Given the description of an element on the screen output the (x, y) to click on. 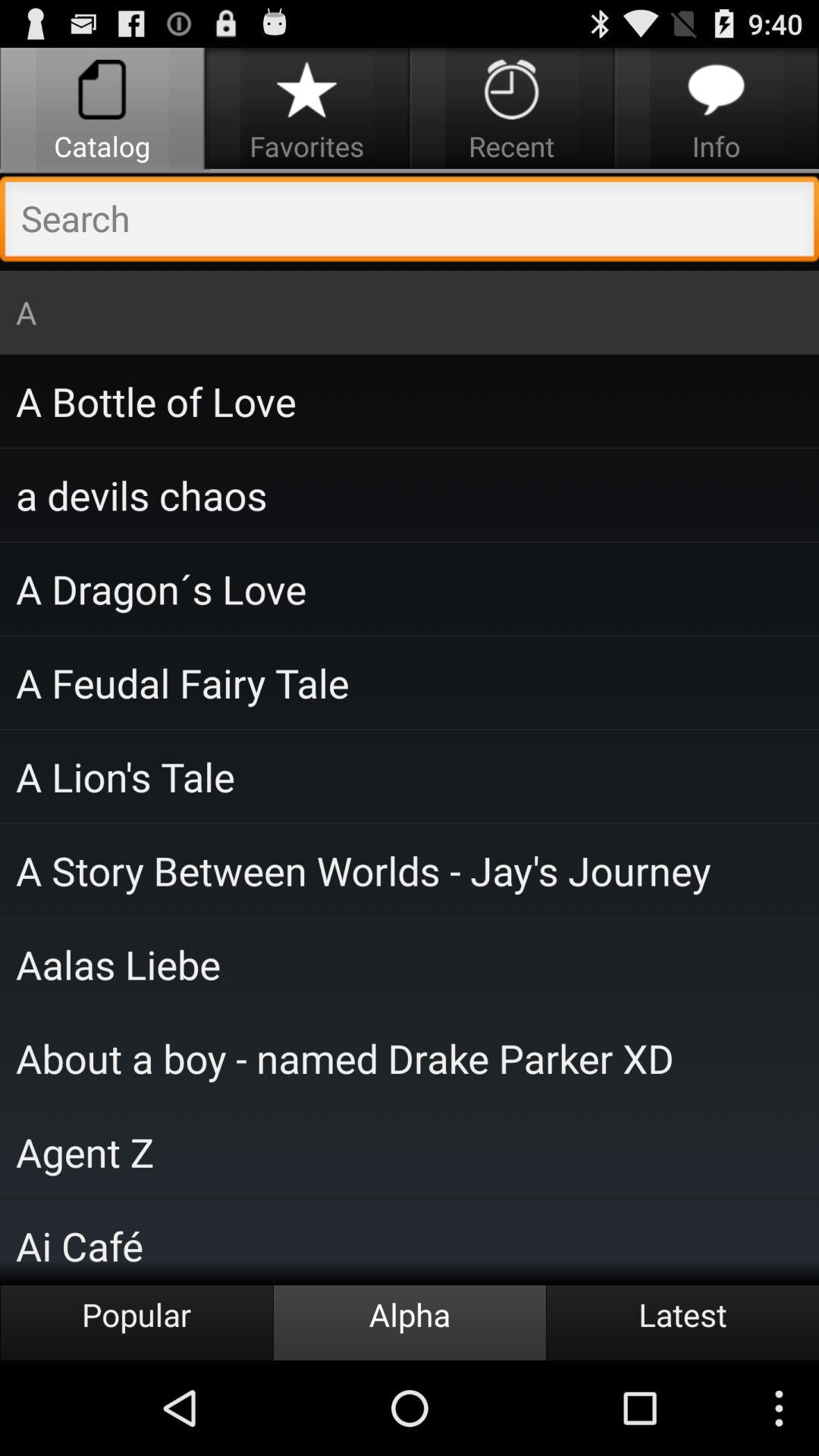
tap icon to the left of the alpha icon (136, 1322)
